Given the description of an element on the screen output the (x, y) to click on. 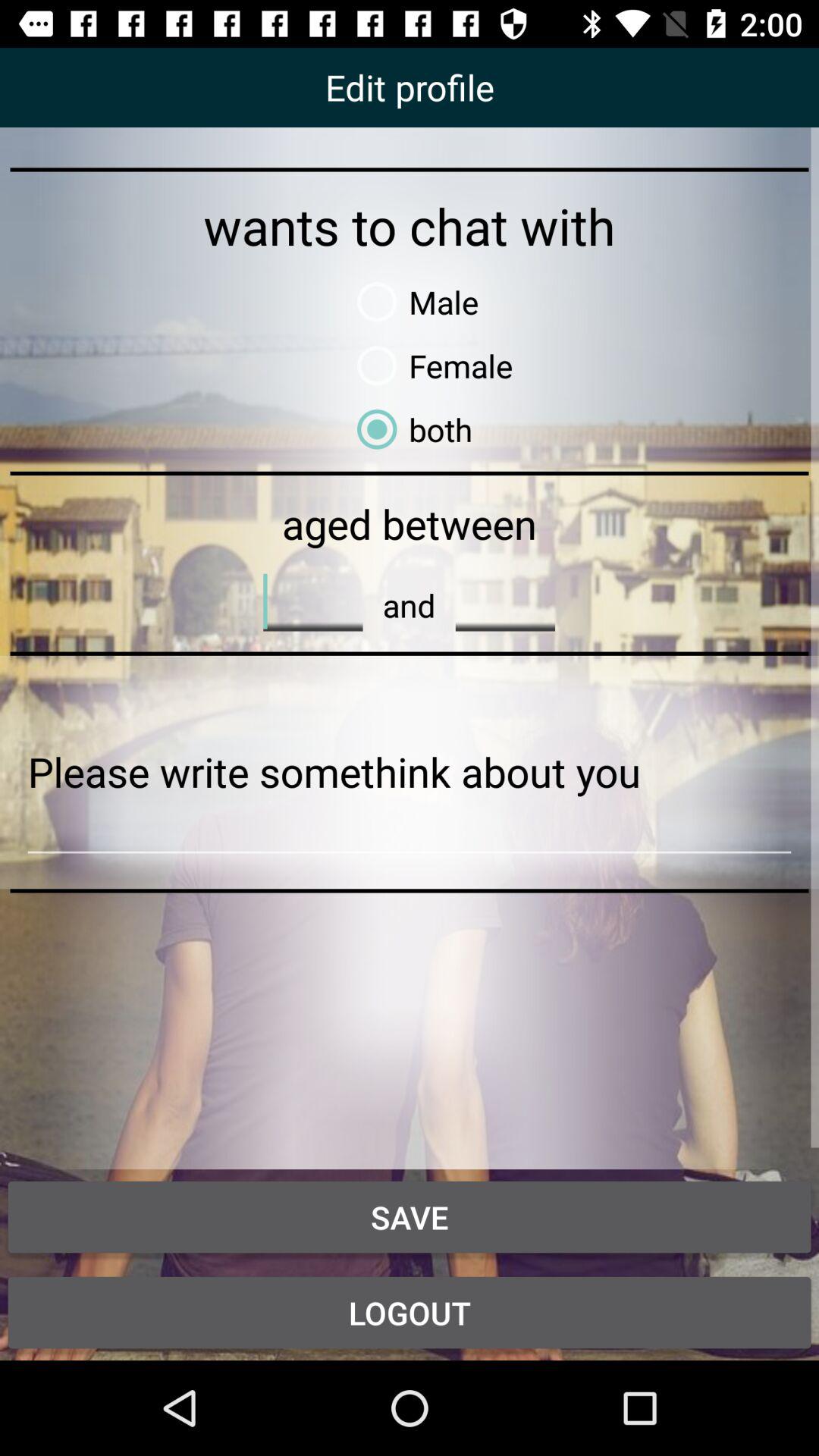
screen page (409, 772)
